Given the description of an element on the screen output the (x, y) to click on. 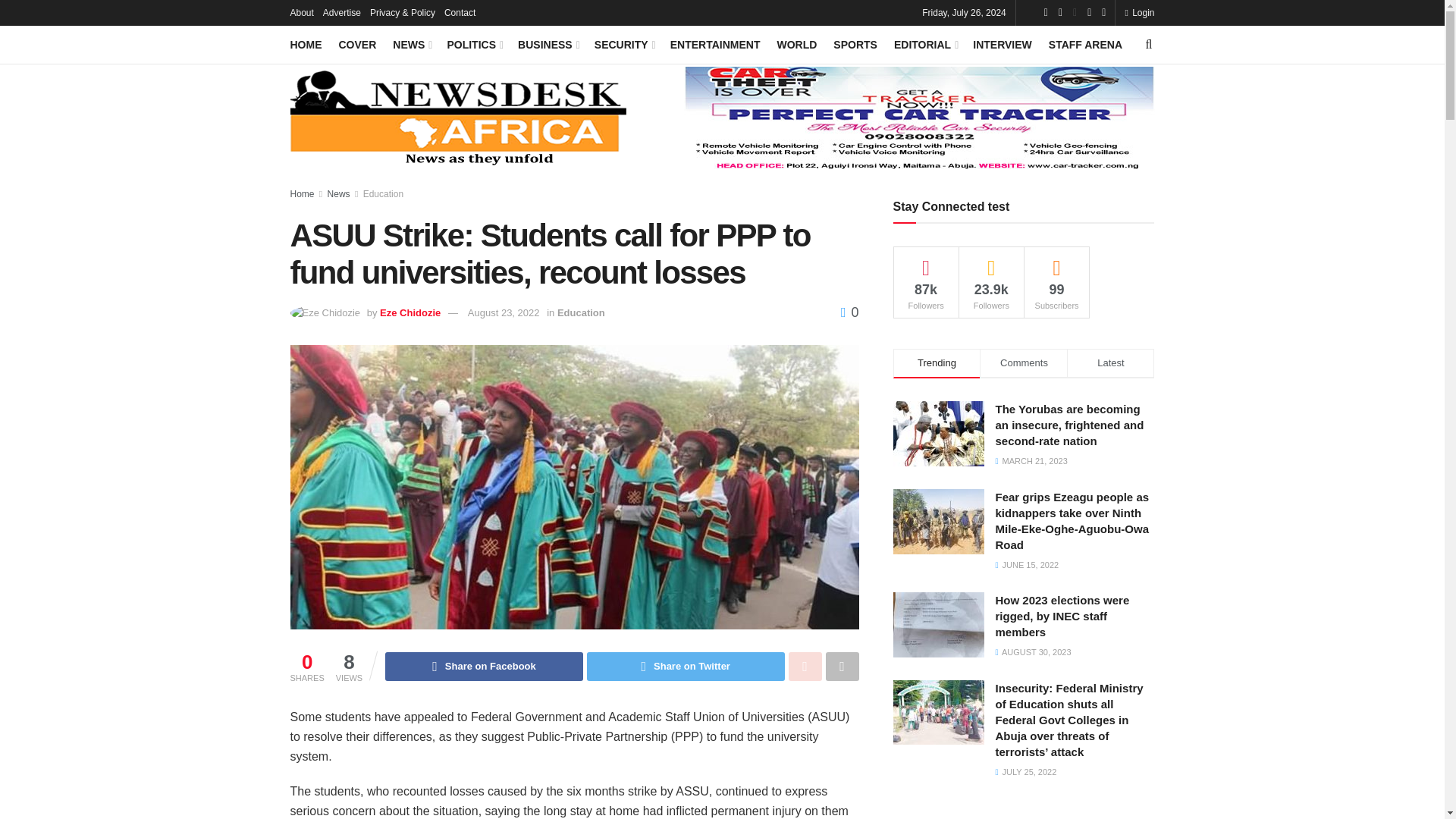
POLITICS (473, 44)
SPORTS (854, 44)
WORLD (796, 44)
COVER (356, 44)
EDITORIAL (924, 44)
Advertise (342, 12)
NEWS (411, 44)
SECURITY (623, 44)
Contact (460, 12)
ENTERTAINMENT (714, 44)
About (301, 12)
Login (1139, 12)
HOME (305, 44)
BUSINESS (548, 44)
